Given the description of an element on the screen output the (x, y) to click on. 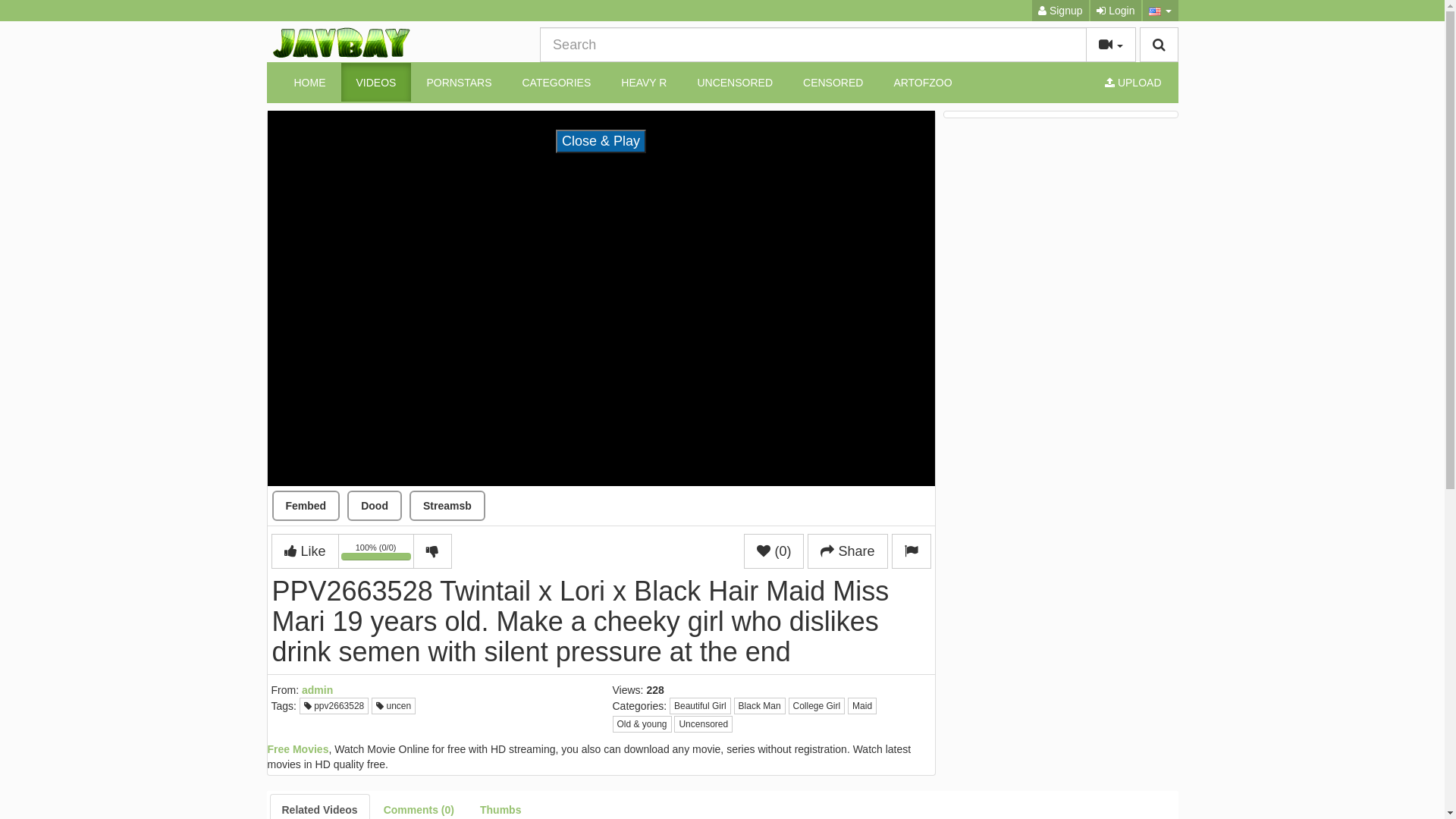
Close & Play Element type: text (600, 141)
Free Movies Element type: text (297, 749)
Maid Element type: text (861, 705)
Old & young Element type: text (641, 723)
ARTOFZOO Element type: text (922, 81)
CATEGORIES Element type: text (555, 81)
Black Man Element type: text (759, 705)
Login Element type: text (1115, 10)
Uncensored Element type: text (703, 723)
uncen Element type: text (393, 705)
PORNSTARS Element type: text (458, 81)
admin Element type: text (316, 690)
Fembed Element type: text (305, 505)
College Girl Element type: text (816, 705)
Share Element type: text (847, 550)
HEAVY R Element type: text (643, 81)
ppv2663528 Element type: text (333, 705)
UPLOAD Element type: text (1132, 81)
HOME Element type: text (310, 81)
Signup Element type: text (1060, 10)
Toggle Dropdown Element type: text (1110, 44)
Like Element type: text (304, 550)
UNCENSORED Element type: text (734, 81)
VIDEOS Element type: text (376, 81)
Dood Element type: text (374, 505)
CENSORED Element type: text (832, 81)
Beautiful Girl Element type: text (700, 705)
Streamsb Element type: text (447, 505)
100% (0/0)
100% Complete Element type: text (376, 551)
(0) Element type: text (773, 550)
